Given the description of an element on the screen output the (x, y) to click on. 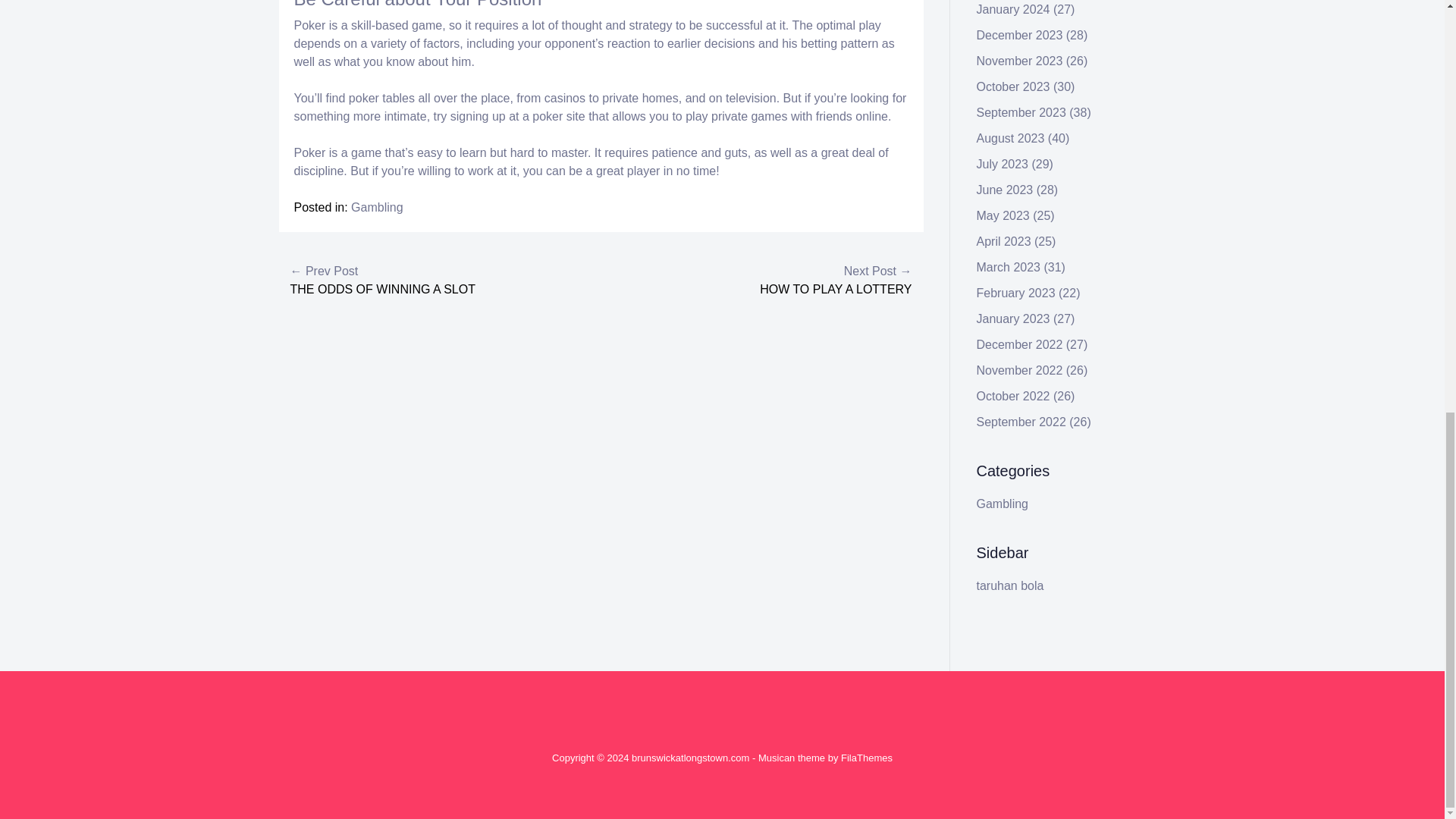
December 2022 (1019, 344)
brunswickatlongstown.com (690, 757)
May 2023 (1002, 215)
June 2023 (1004, 189)
January 2024 (1012, 9)
October 2023 (1012, 86)
February 2023 (1015, 292)
Gambling (376, 206)
July 2023 (1002, 164)
April 2023 (1003, 241)
March 2023 (1008, 267)
November 2023 (1019, 60)
August 2023 (1010, 137)
November 2022 (1019, 369)
January 2023 (1012, 318)
